Given the description of an element on the screen output the (x, y) to click on. 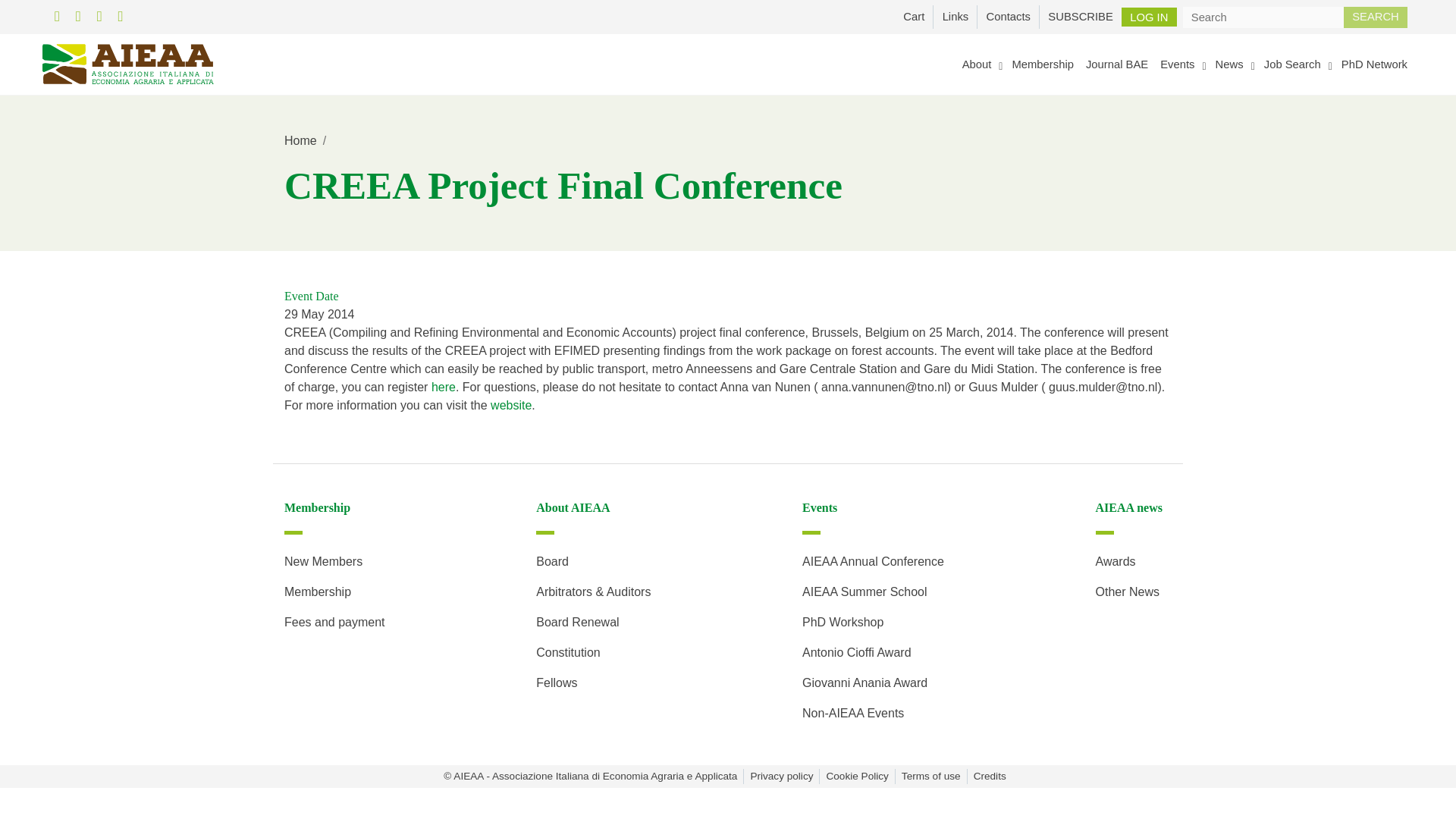
Links (954, 15)
Membership (1042, 63)
Search (1375, 16)
Contacts (1007, 15)
PhD Network (1374, 63)
Cart (914, 15)
